Given the description of an element on the screen output the (x, y) to click on. 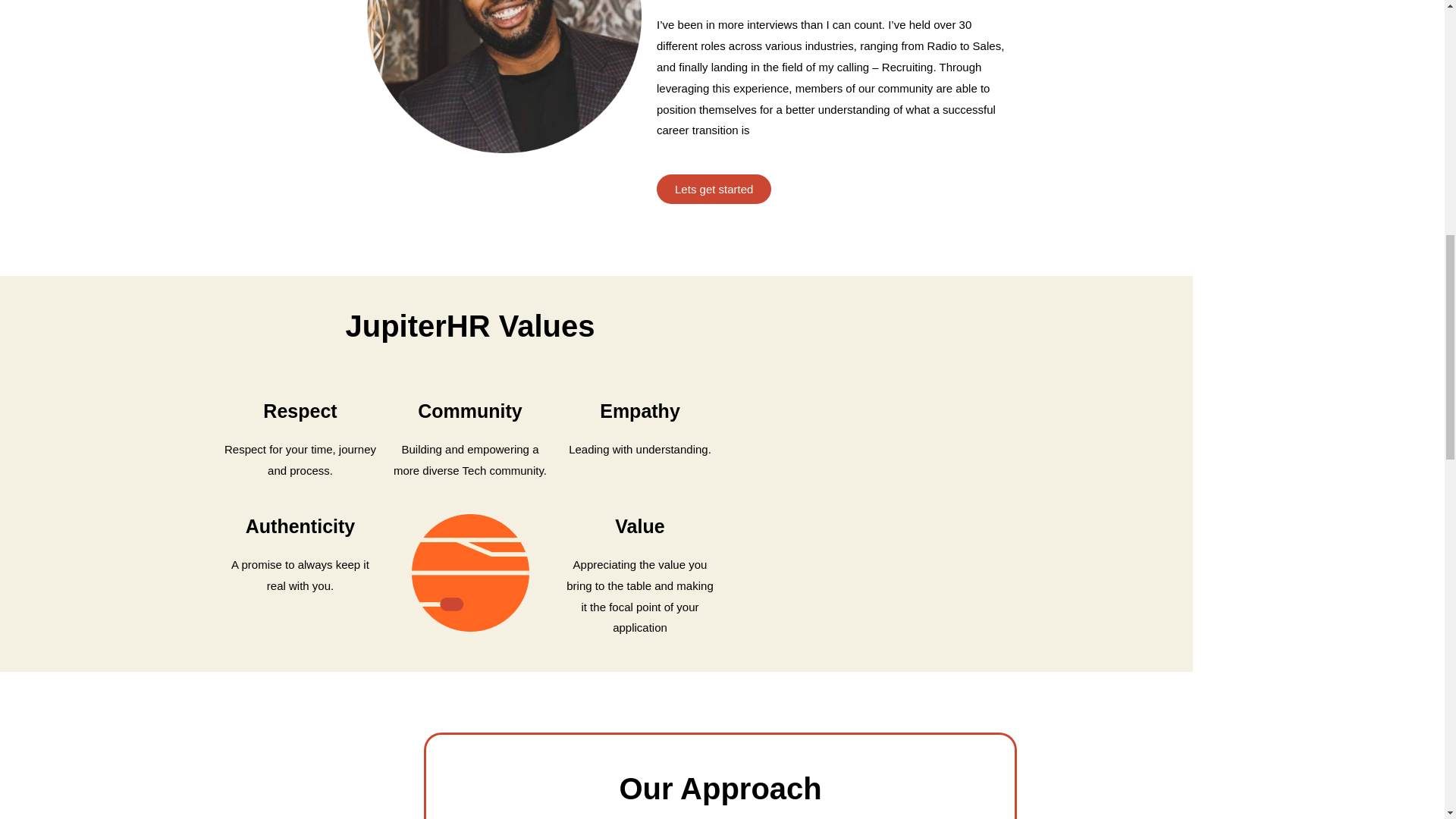
Lets get started (713, 188)
